Given the description of an element on the screen output the (x, y) to click on. 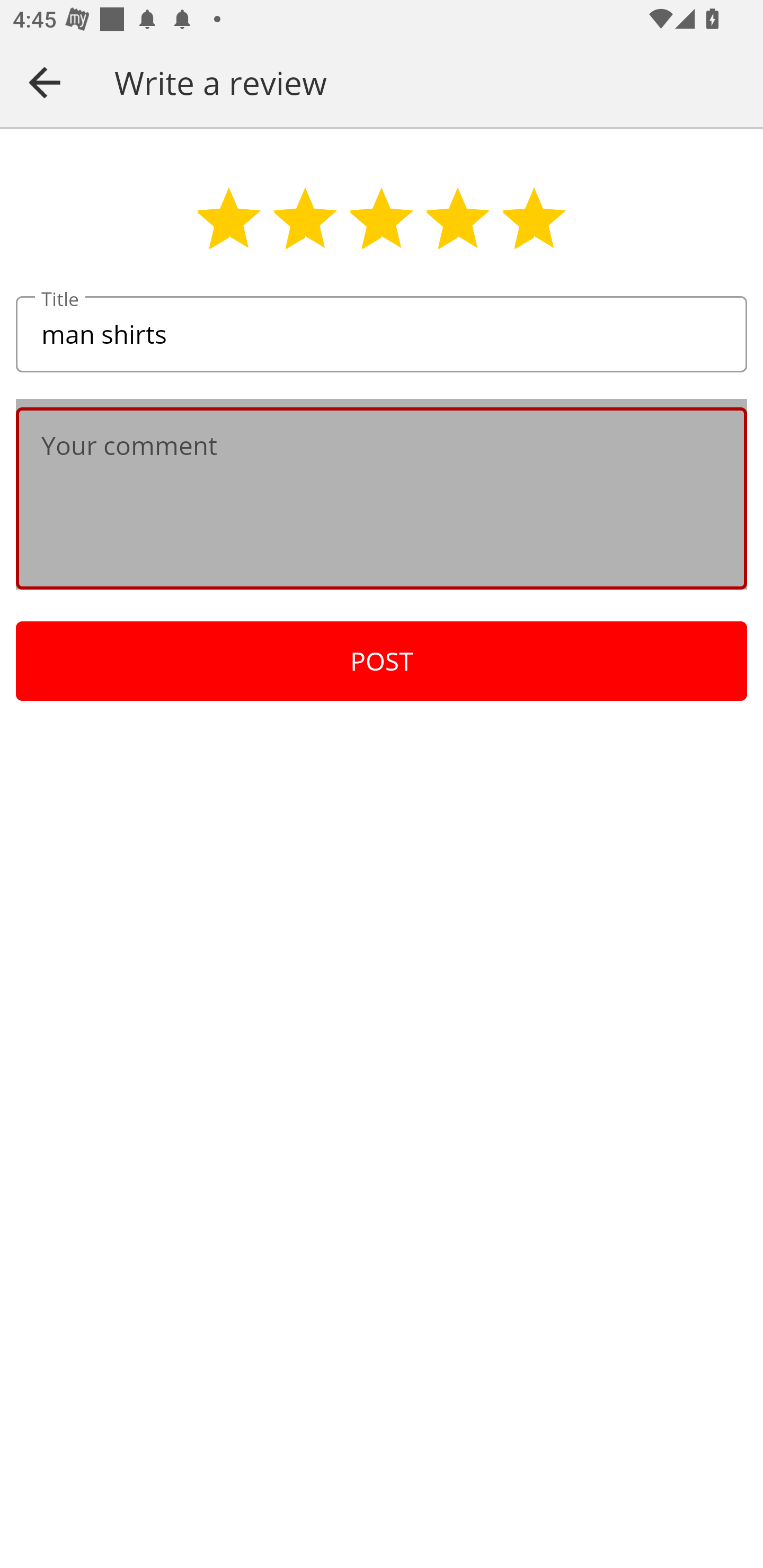
Navigate up (44, 82)
man shirts (381, 334)
Your comment (381, 498)
POST (381, 660)
